Given the description of an element on the screen output the (x, y) to click on. 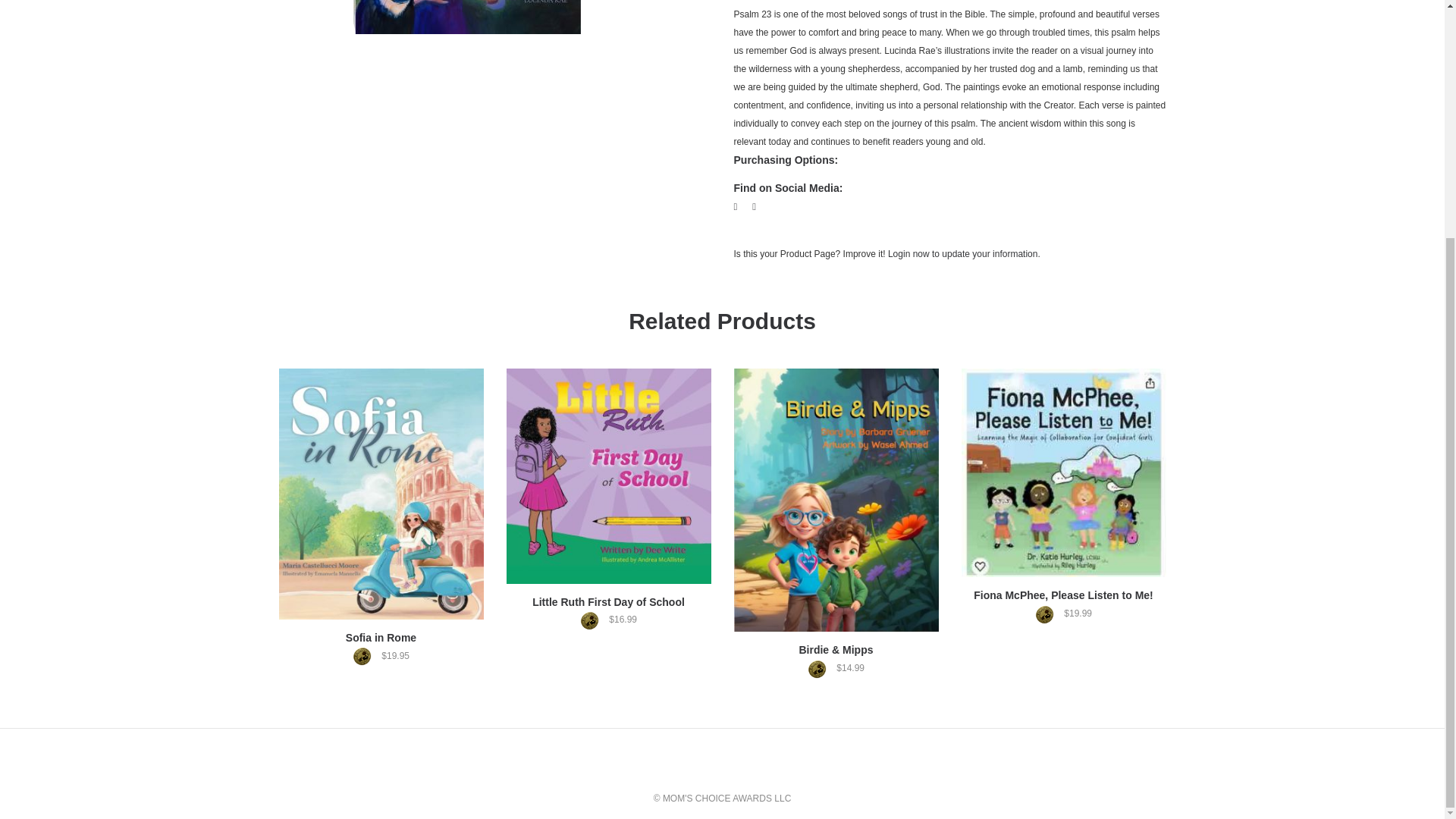
MCA Gold Award (593, 619)
MCA Gold Award (365, 656)
MCA Gold Award (1048, 614)
MCA Gold Award (821, 669)
